Given the description of an element on the screen output the (x, y) to click on. 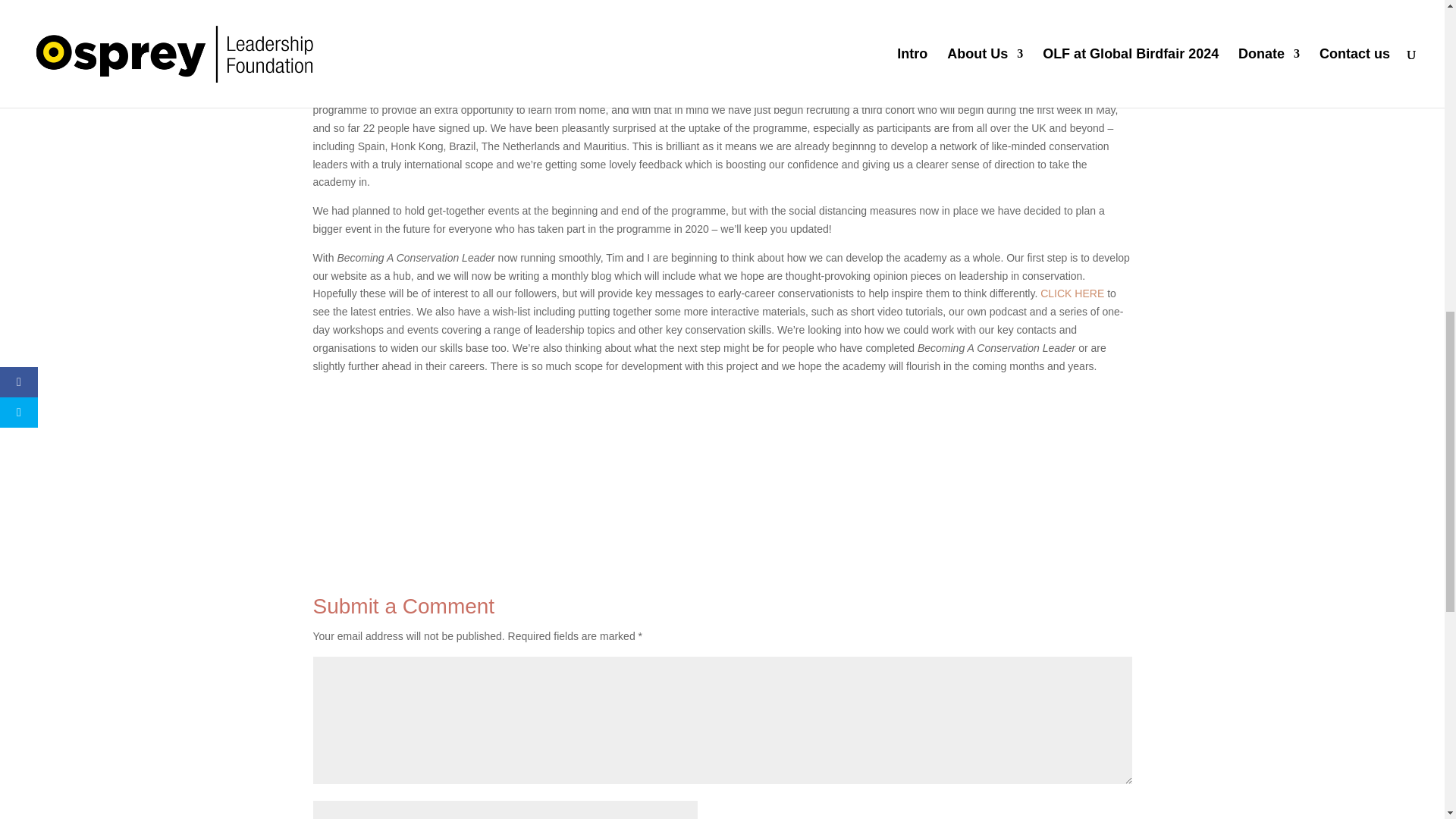
CLICK HERE (1072, 293)
